Given the description of an element on the screen output the (x, y) to click on. 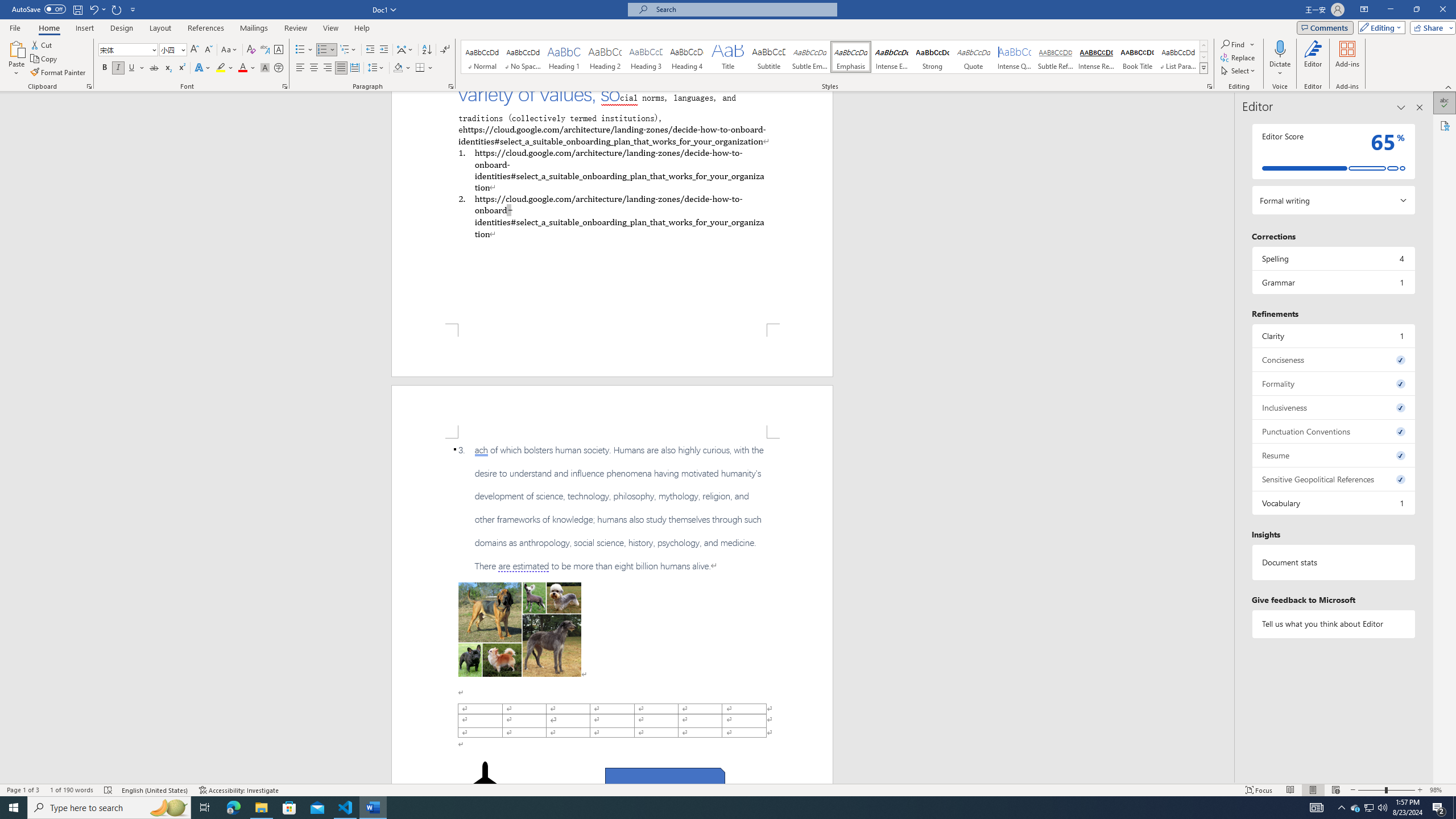
3. (611, 507)
